Given the description of an element on the screen output the (x, y) to click on. 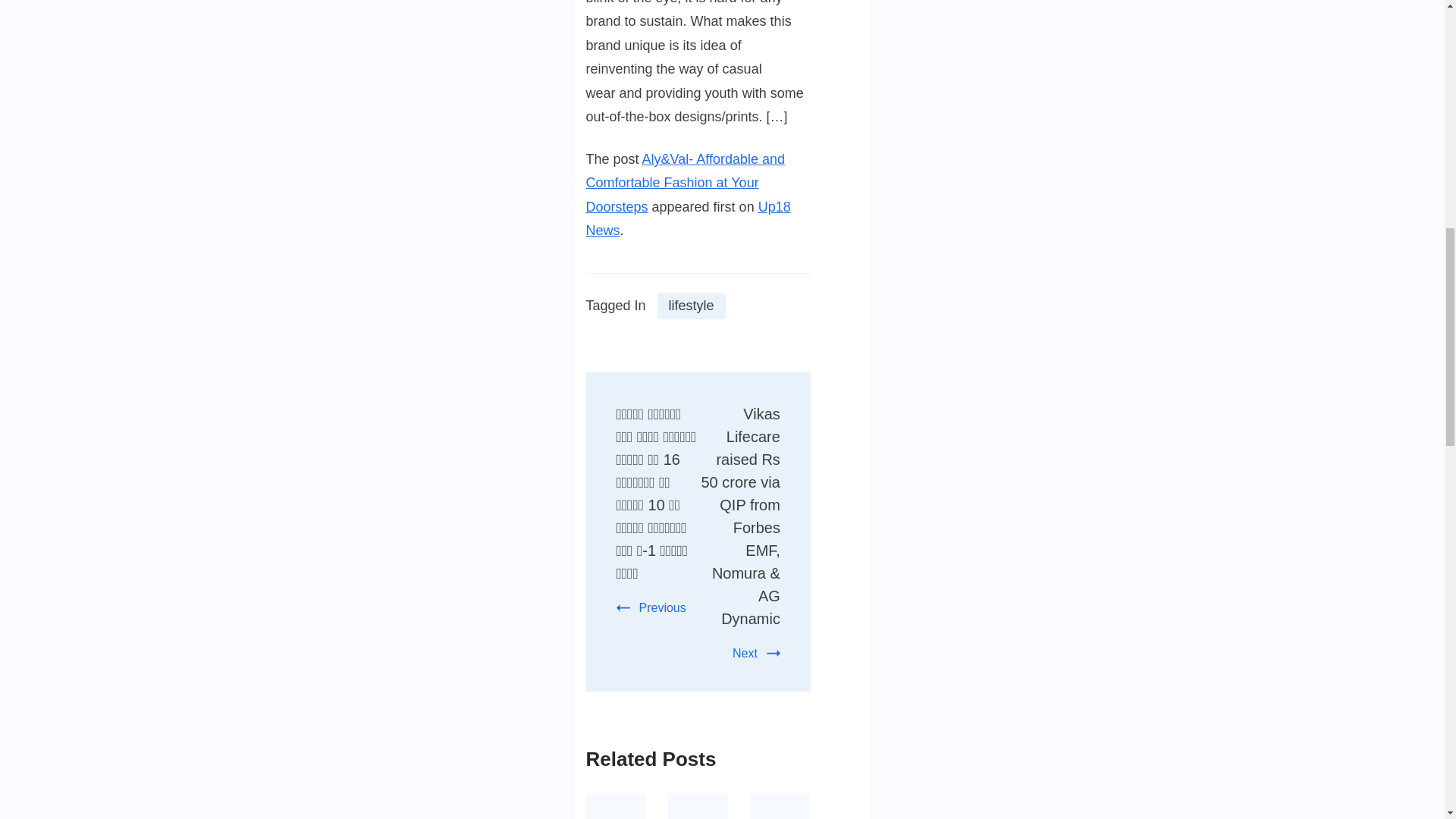
Up18 News (687, 219)
lifestyle (691, 305)
